Given the description of an element on the screen output the (x, y) to click on. 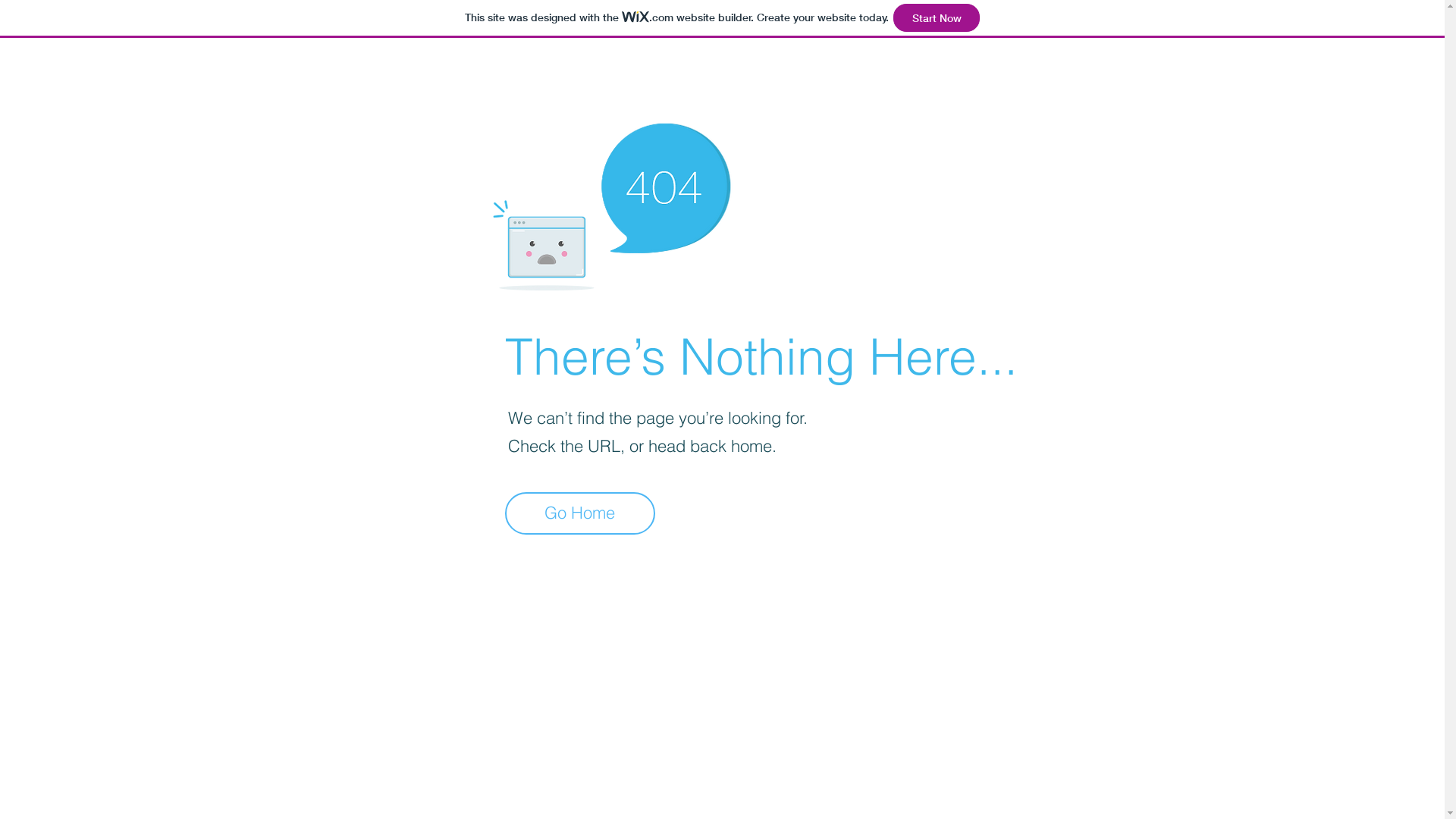
404-icon_2.png Element type: hover (610, 202)
Go Home Element type: text (580, 513)
